Given the description of an element on the screen output the (x, y) to click on. 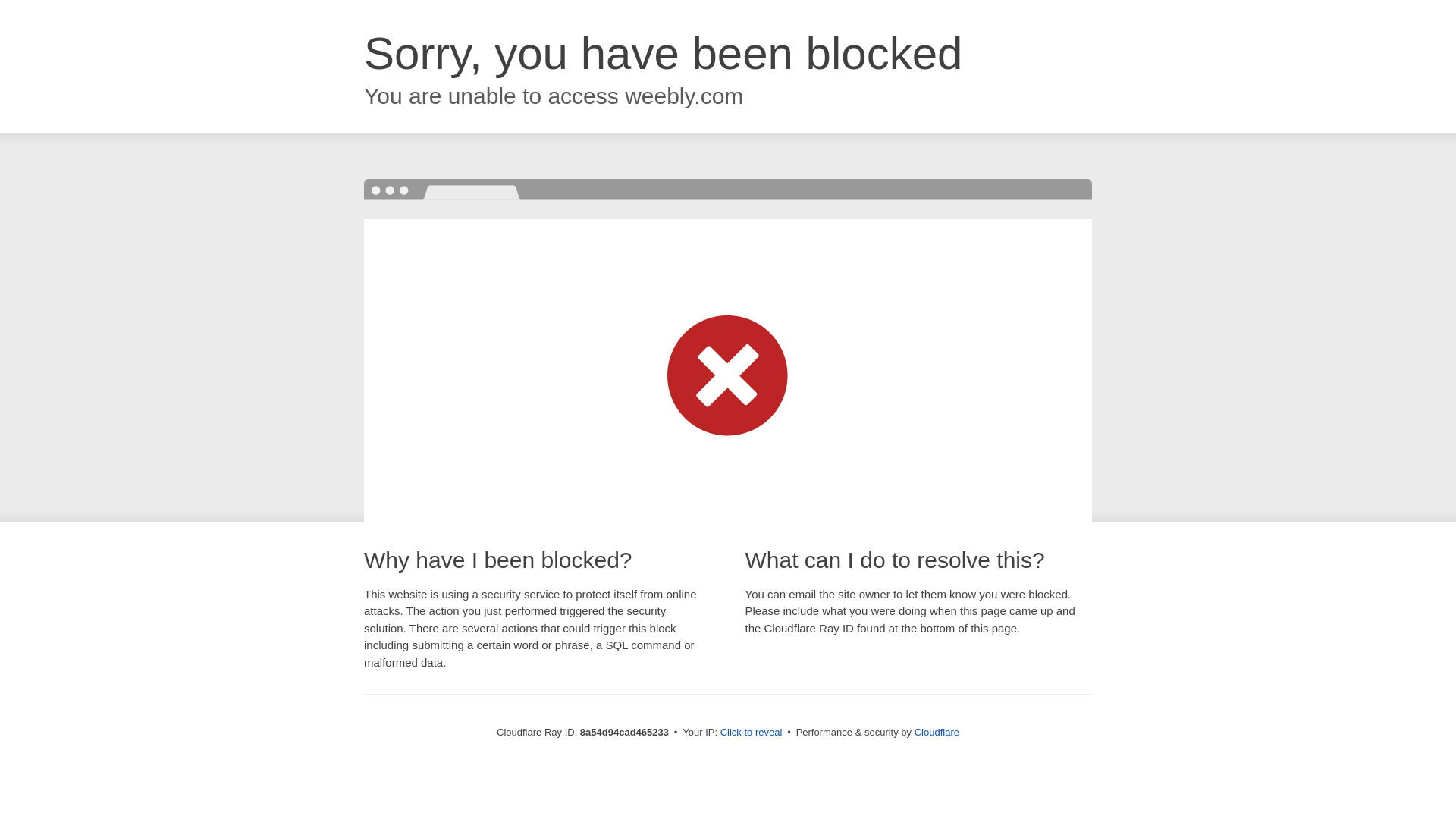
Cloudflare (936, 731)
Click to reveal (751, 732)
